Given the description of an element on the screen output the (x, y) to click on. 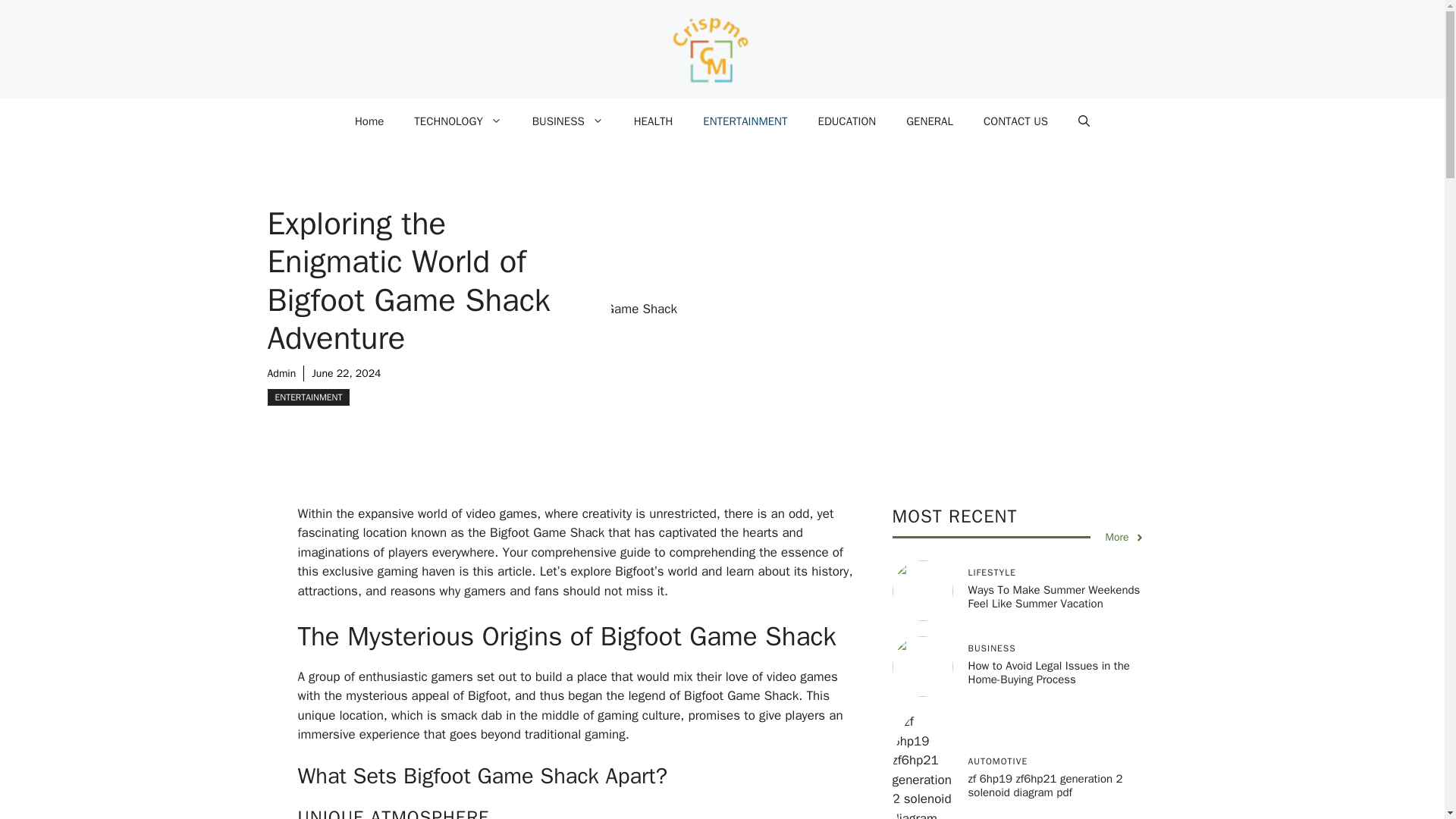
CONTACT US (1015, 121)
More (1124, 537)
ENTERTAINMENT (744, 121)
BUSINESS (567, 121)
Home (368, 121)
TECHNOLOGY (457, 121)
Admin (280, 373)
ENTERTAINMENT (307, 397)
EDUCATION (846, 121)
GENERAL (929, 121)
HEALTH (653, 121)
